Given the description of an element on the screen output the (x, y) to click on. 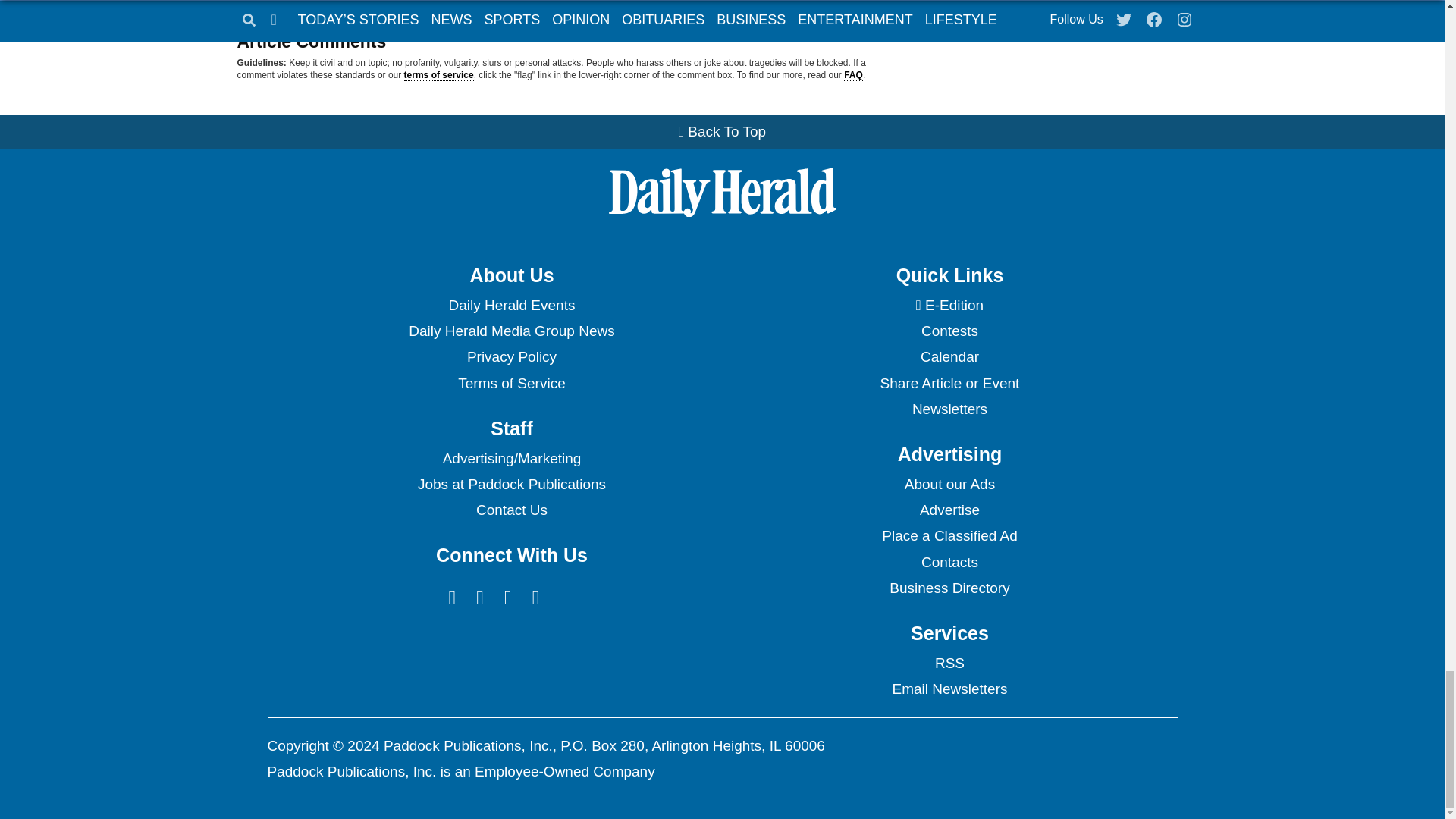
Daily Herald Digital Newspaper (949, 305)
Daily Herald Events (511, 305)
Contact Us (511, 510)
Jobs at Paddock Publications (511, 484)
Privacy Policy (511, 356)
Terms of Service (511, 383)
Daily Herald Media Group News (511, 330)
